Given the description of an element on the screen output the (x, y) to click on. 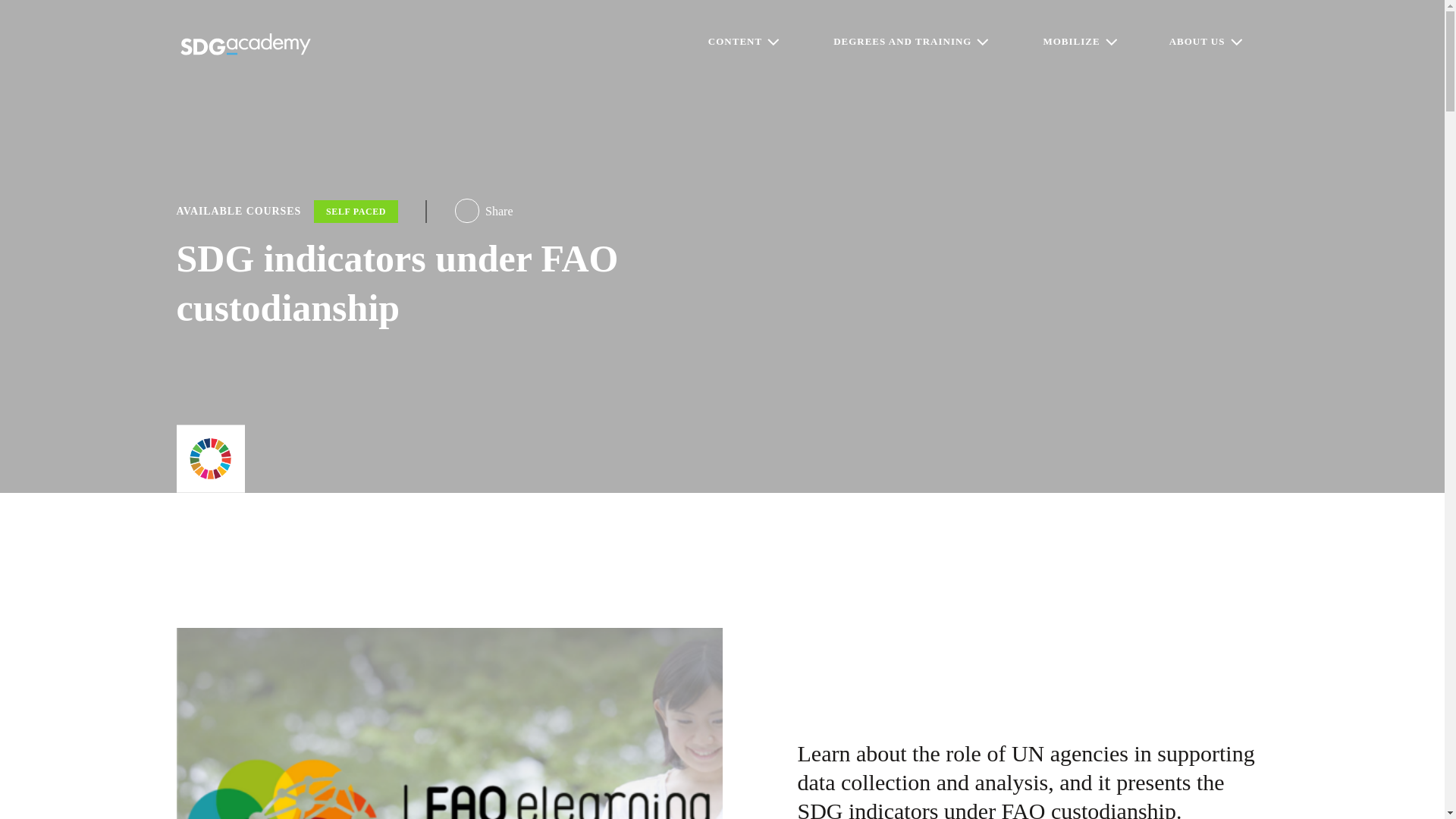
Share (483, 210)
CONTENT (742, 42)
MOBILIZE (1078, 42)
DEGREES AND TRAINING (909, 42)
ABOUT US (1205, 42)
